Given the description of an element on the screen output the (x, y) to click on. 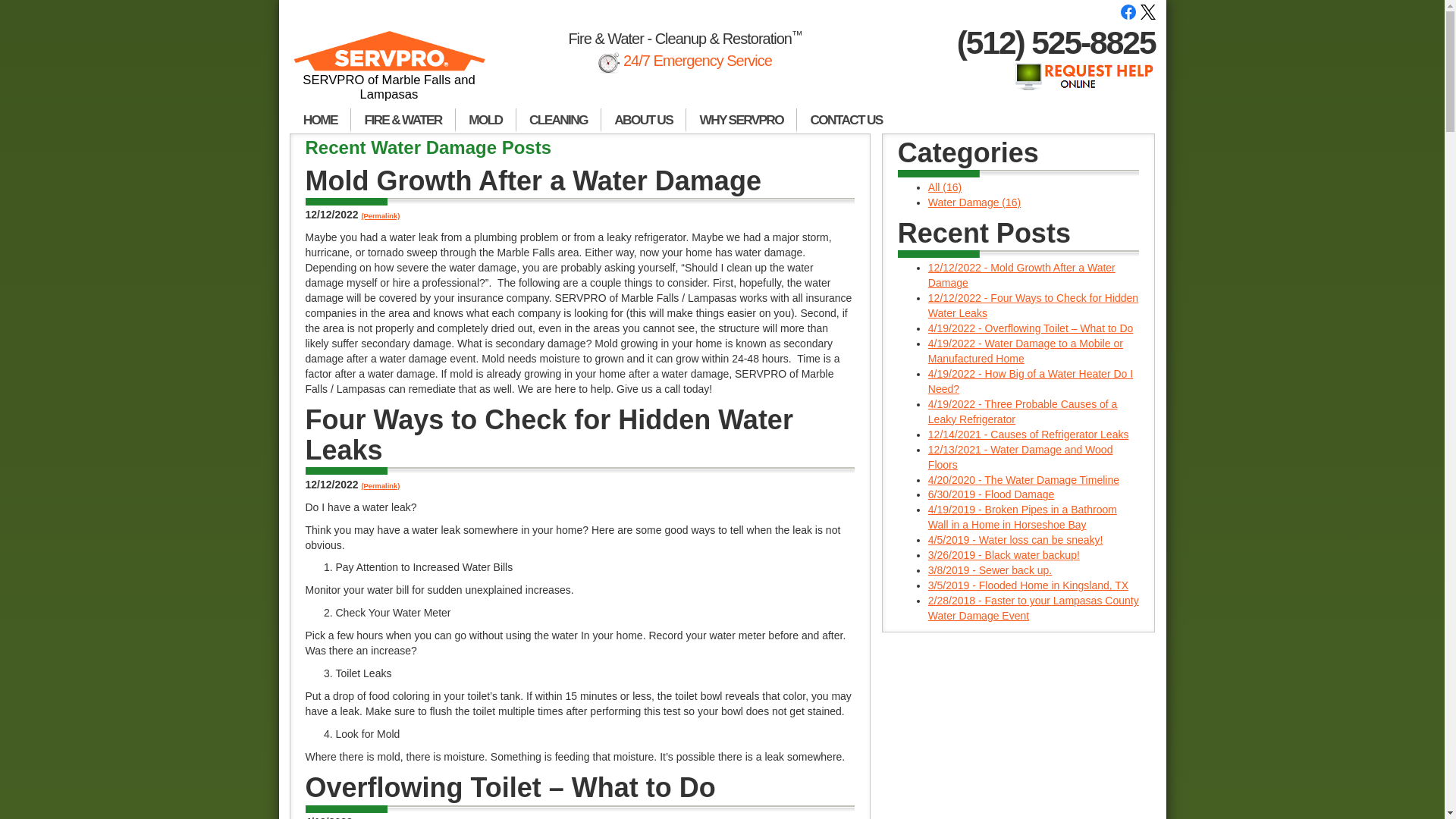
MOLD (485, 120)
HOME (319, 120)
CLEANING (558, 120)
ABOUT US (643, 120)
SERVPRO of Marble Falls and Lampasas (389, 72)
